Given the description of an element on the screen output the (x, y) to click on. 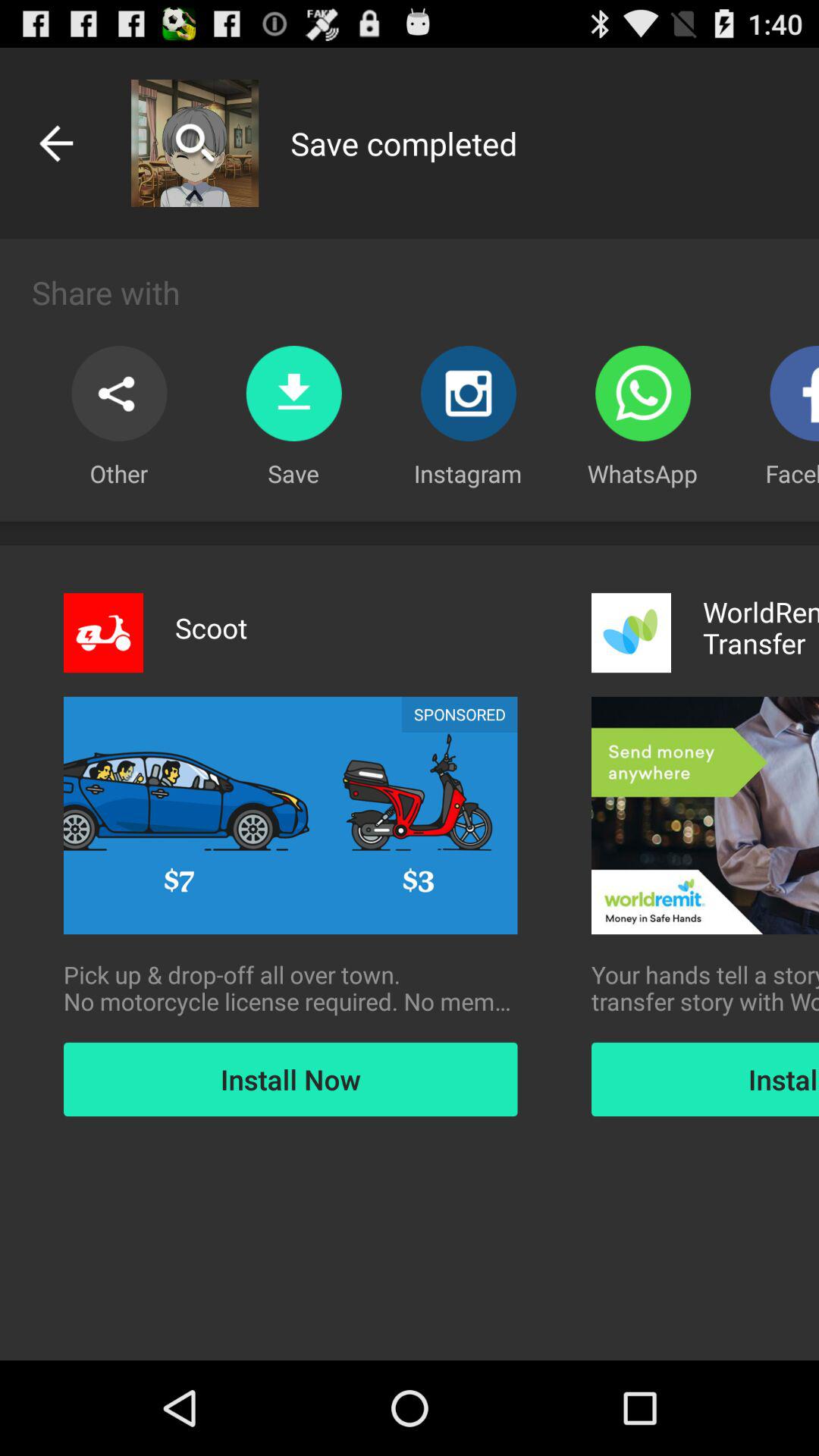
turn on scoot app (211, 628)
